Given the description of an element on the screen output the (x, y) to click on. 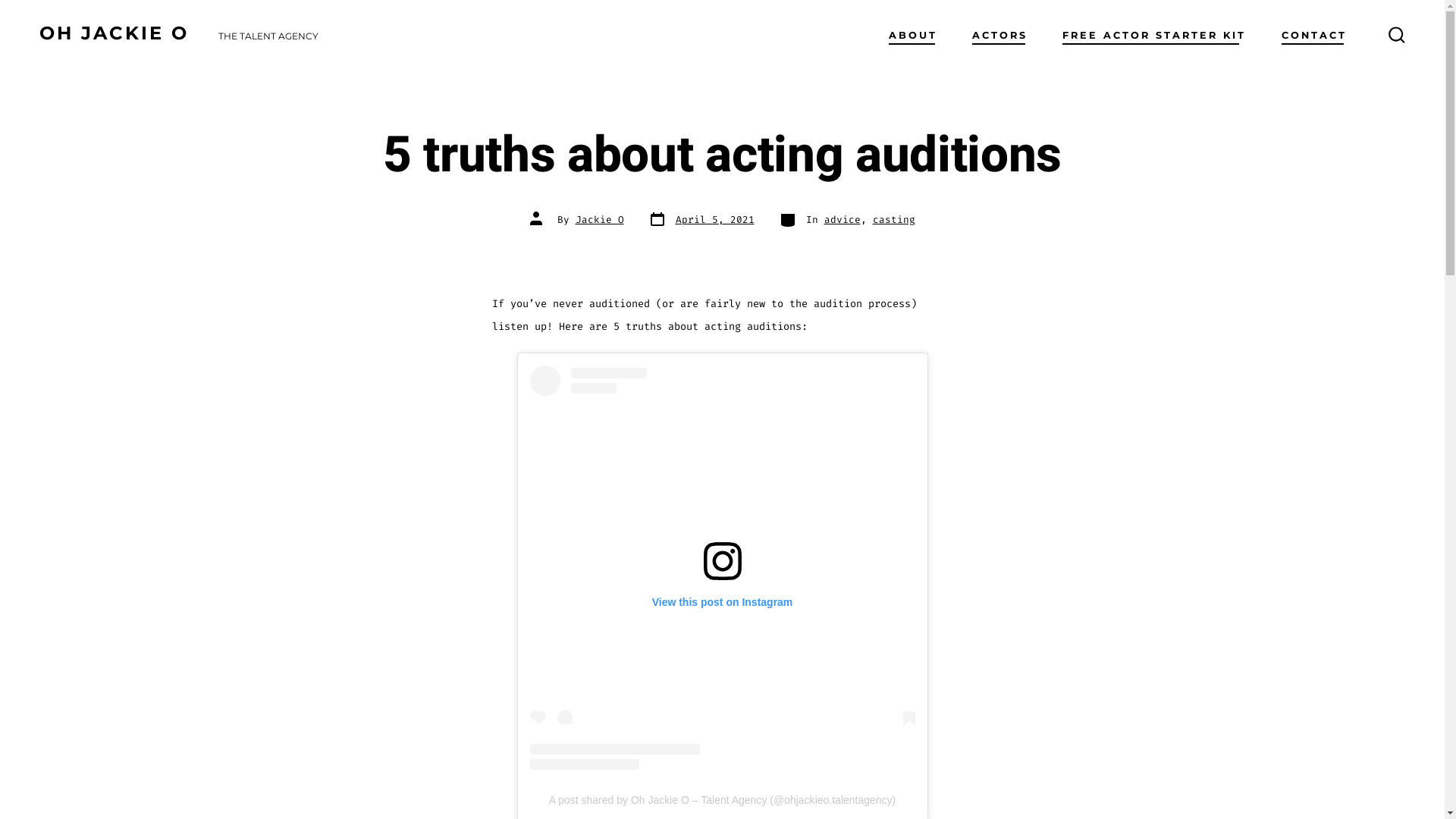
ABOUT Element type: text (912, 36)
Jackie O Element type: text (598, 219)
ACTORS Element type: text (999, 36)
FREE ACTOR STARTER KIT Element type: text (1153, 36)
casting Element type: text (893, 219)
CONTACT Element type: text (1313, 36)
View this post on Instagram Element type: text (721, 567)
OH JACKIE O Element type: text (113, 35)
Post date
April 5, 2021 Element type: text (700, 220)
advice Element type: text (841, 219)
SEARCH TOGGLE Element type: text (1396, 35)
